Given the description of an element on the screen output the (x, y) to click on. 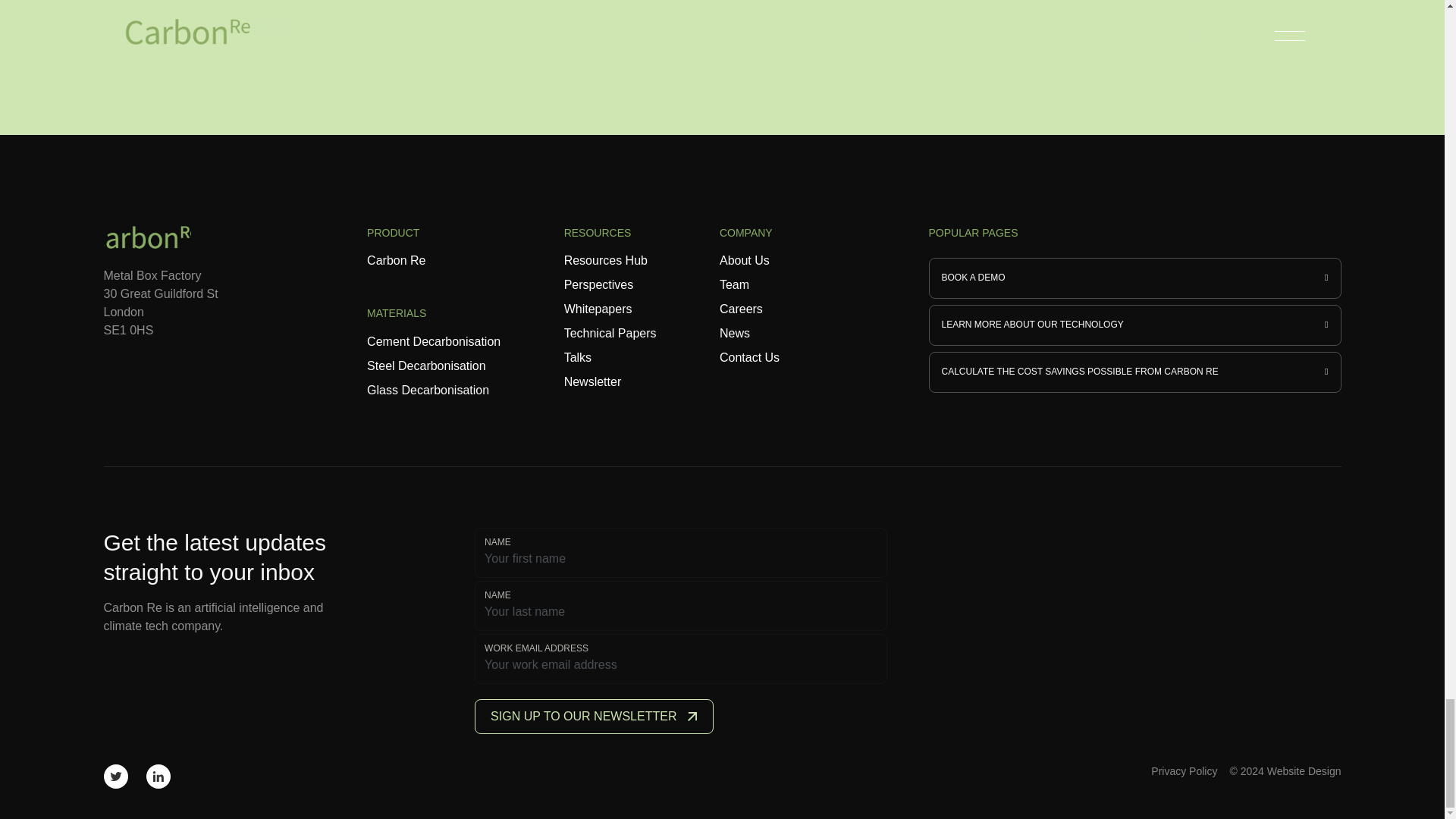
Contact Us (748, 357)
Careers (740, 308)
PRODUCT (433, 238)
Your work email address (680, 665)
Newsletter (592, 381)
Technical Papers (610, 332)
News (734, 332)
Carbon Re (395, 259)
LEARN MORE ABOUT OUR TECHNOLOGY (1134, 324)
Perspectives (598, 284)
Sign up to our newsletter (593, 716)
Whitepapers (597, 308)
BOOK A DEMO (1134, 278)
Resources Hub (605, 259)
Team (734, 284)
